Given the description of an element on the screen output the (x, y) to click on. 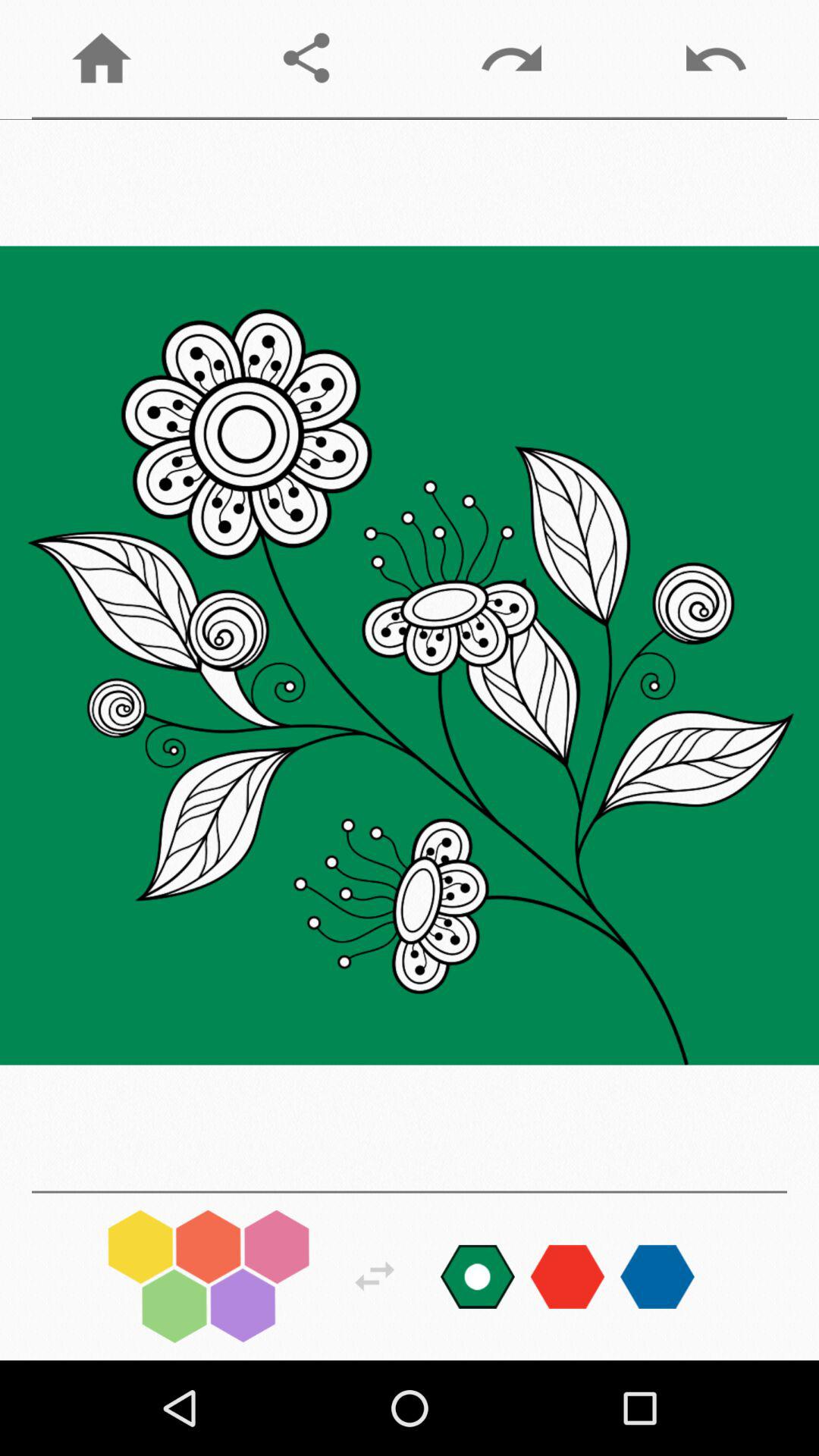
change colors (208, 1276)
